Given the description of an element on the screen output the (x, y) to click on. 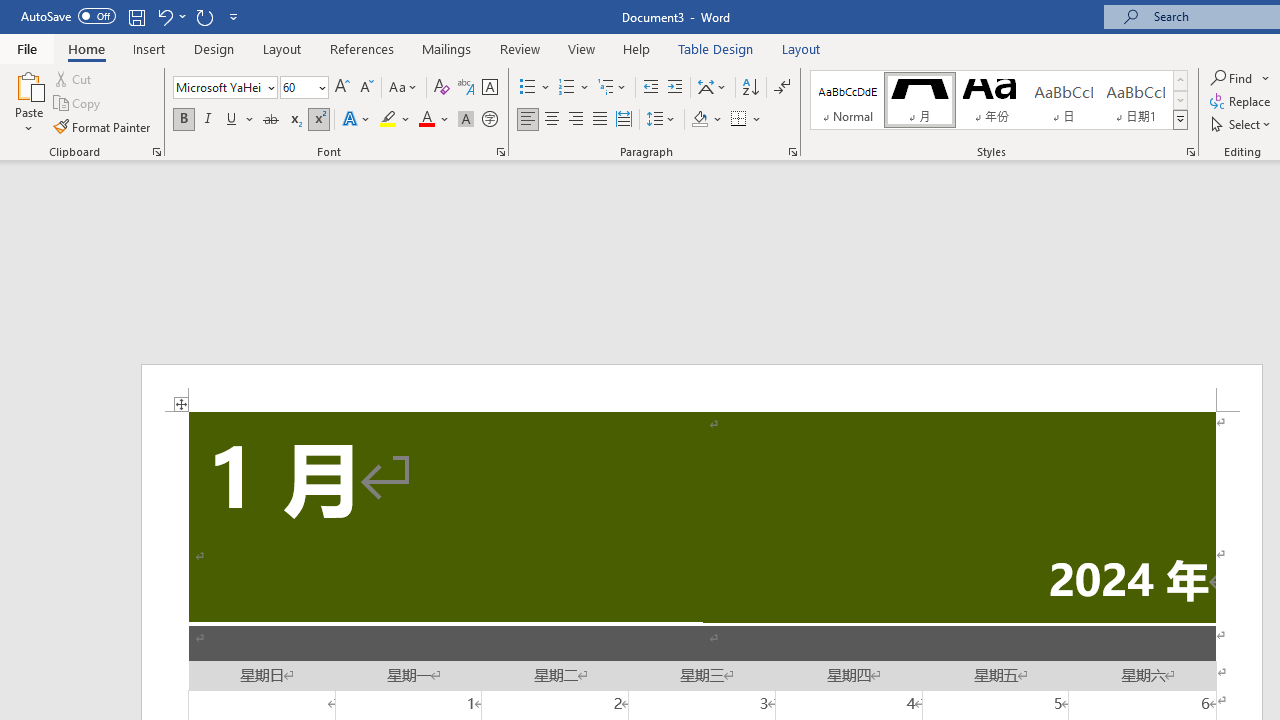
Table Design (715, 48)
Select (1242, 124)
Repeat Doc Close (204, 15)
Row Down (1179, 100)
References (362, 48)
Font (224, 87)
Review (520, 48)
Font Size (304, 87)
Shrink Font (365, 87)
Undo Superscript (170, 15)
Font Size (297, 87)
Italic (207, 119)
Row up (1179, 79)
